Given the description of an element on the screen output the (x, y) to click on. 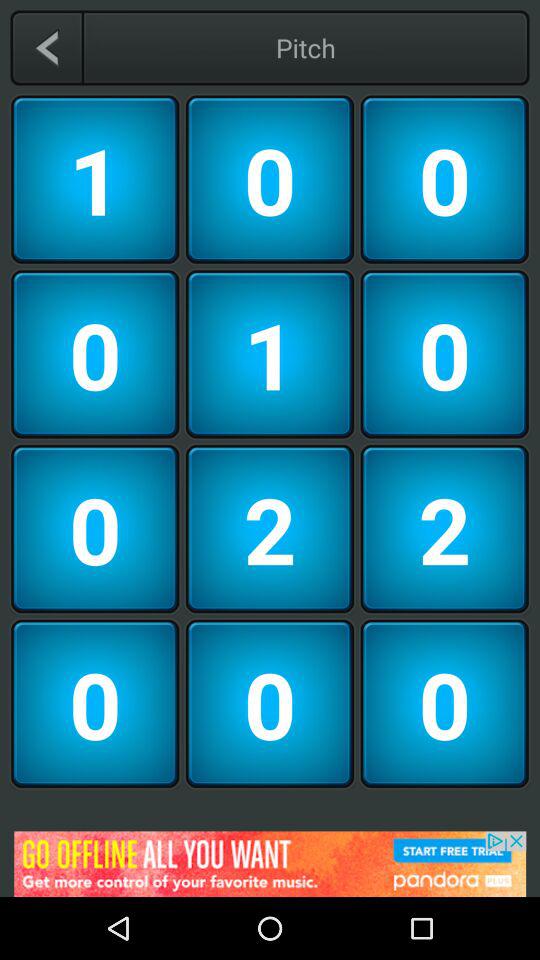
advertisement (270, 864)
